Given the description of an element on the screen output the (x, y) to click on. 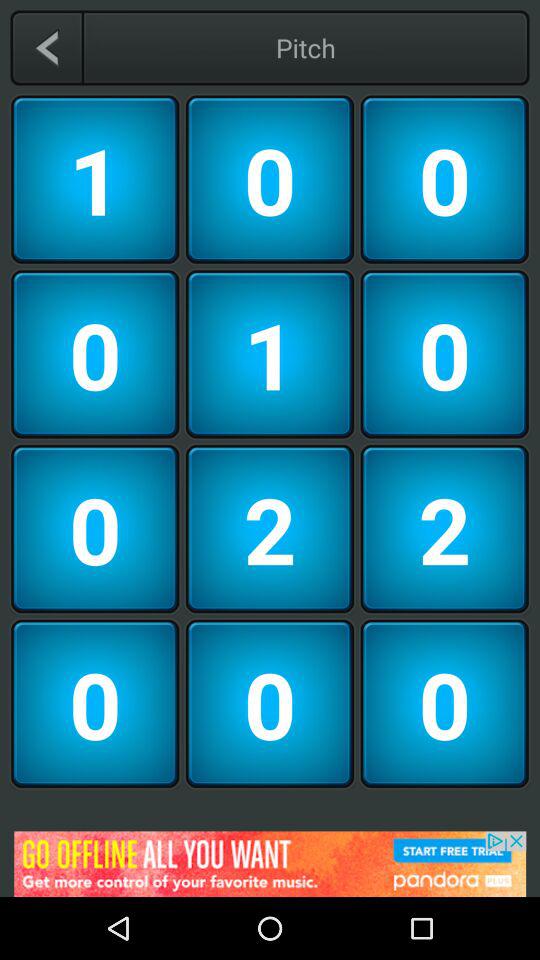
advertisement (270, 864)
